Given the description of an element on the screen output the (x, y) to click on. 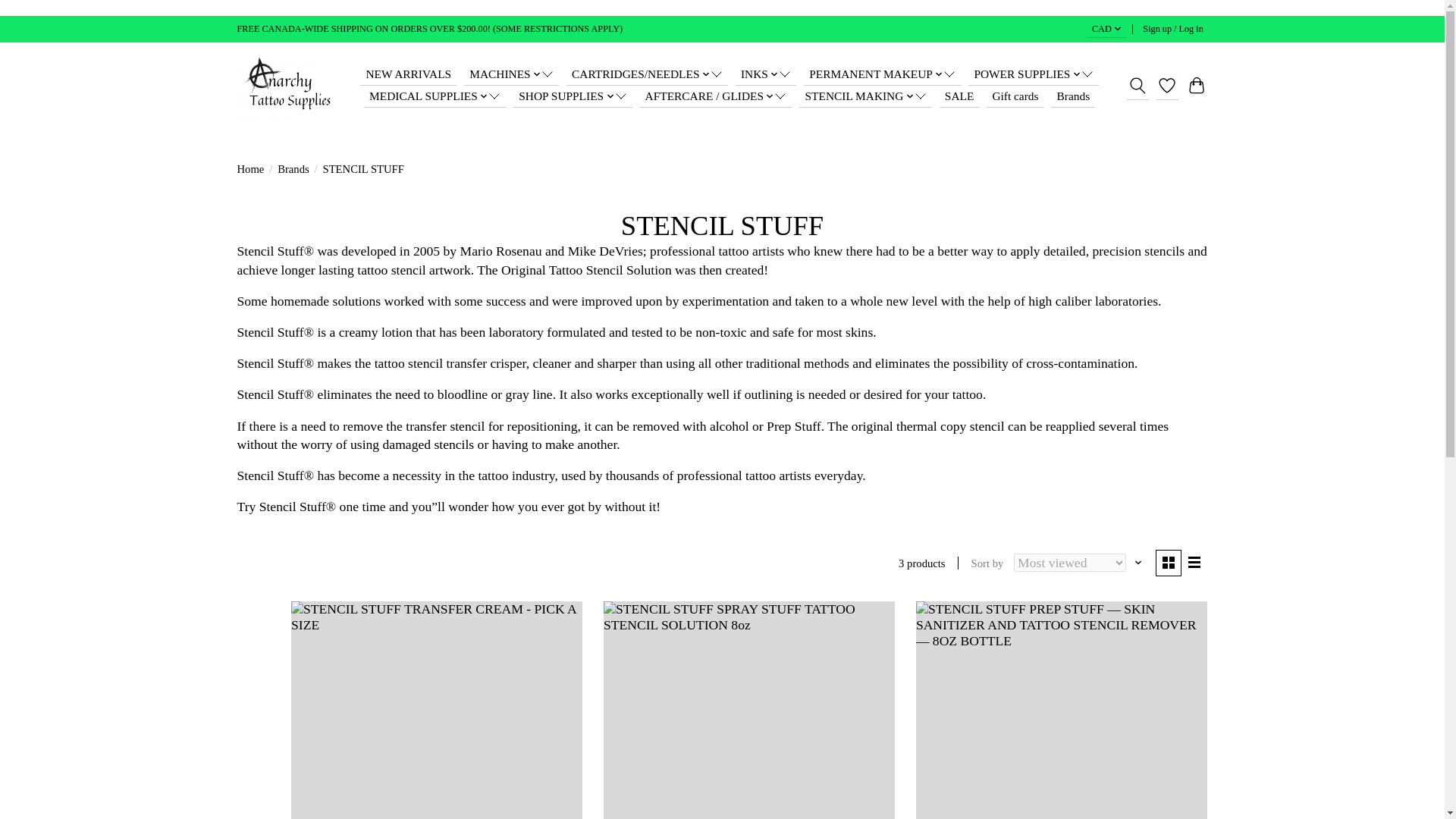
STENCIL STUFF TRANSFER CREAM - PICK A SIZE (436, 710)
STENCIL STUFF SPRAY STUFF TATTOO STENCIL SOLUTION  8oz (749, 710)
NEW ARRIVALS (408, 74)
Anarchy Tattoo Supplies Canada  (287, 85)
My account (1173, 28)
CAD (1106, 28)
MACHINES (511, 74)
